Given the description of an element on the screen output the (x, y) to click on. 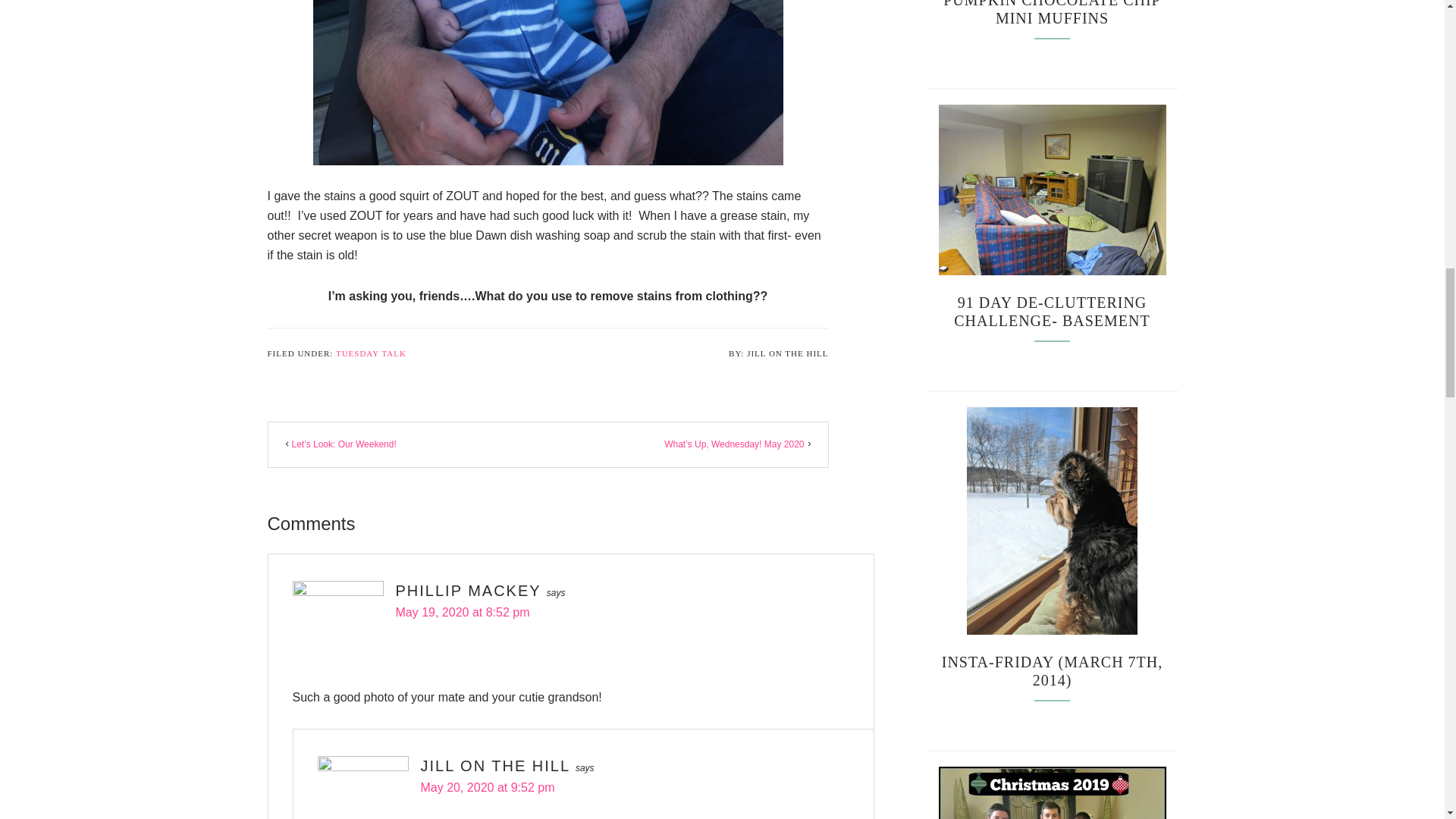
May 19, 2020 at 8:52 pm (462, 612)
TUESDAY TALK (371, 352)
PUMPKIN CHOCOLATE CHIP MINI MUFFINS (1051, 13)
JILL ON THE HILL (494, 765)
May 20, 2020 at 9:52 pm (487, 787)
